Given the description of an element on the screen output the (x, y) to click on. 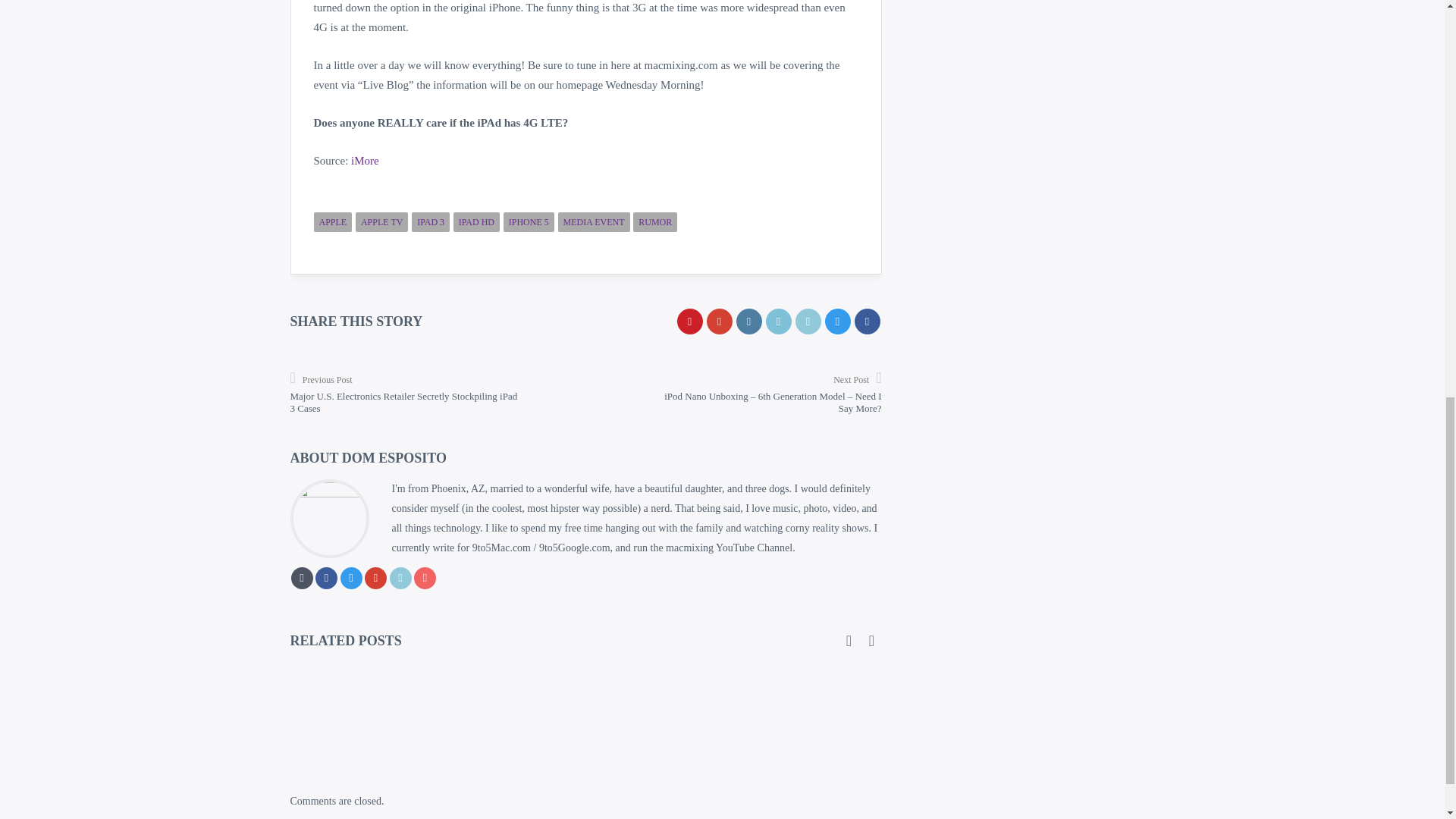
pinterest (689, 321)
tumblr (748, 321)
reddit (778, 321)
facebook (866, 321)
linkedin (807, 321)
google (719, 321)
twitter (837, 321)
